Given the description of an element on the screen output the (x, y) to click on. 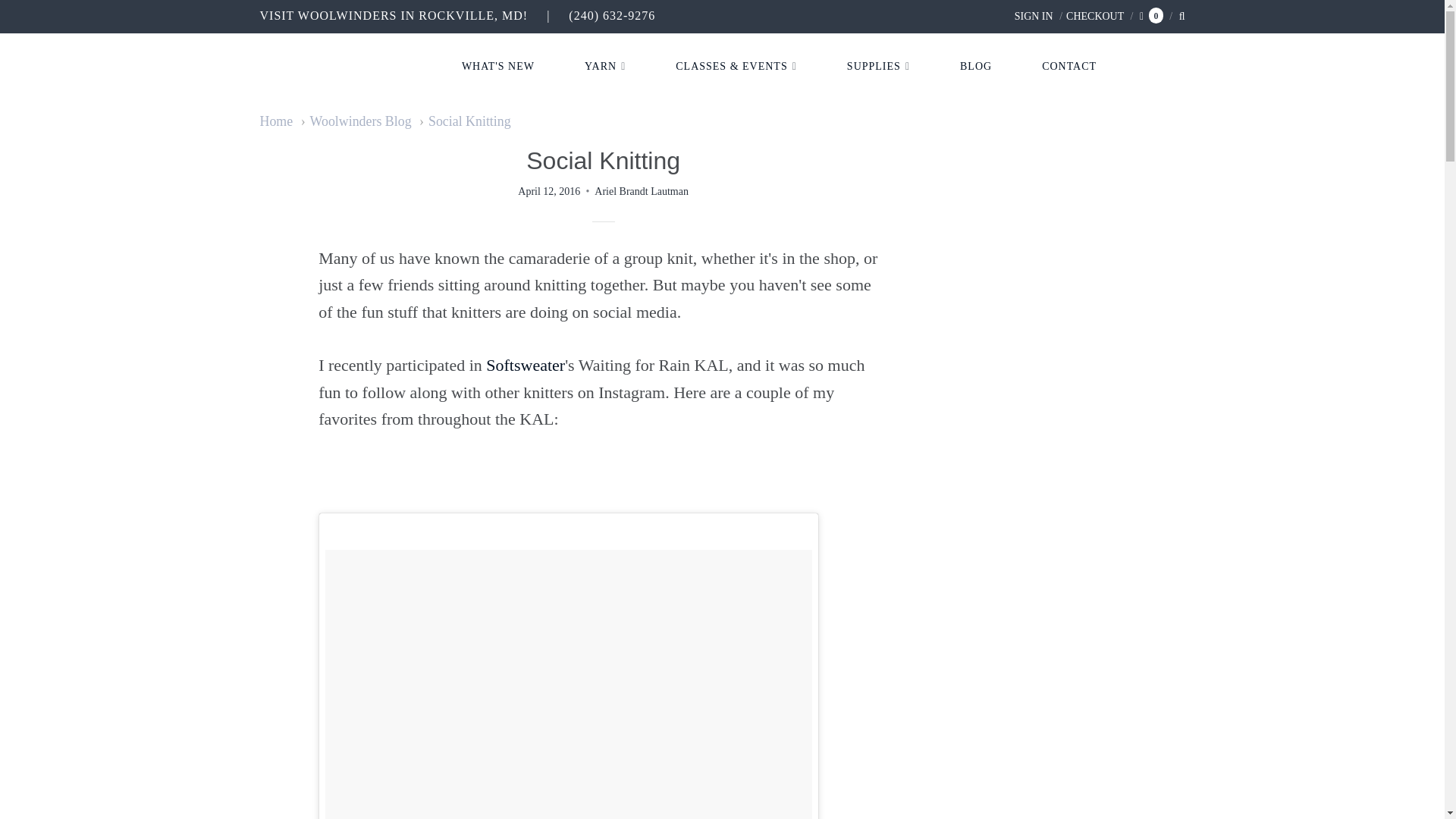
WHAT'S NEW (497, 66)
Social Knitting (465, 120)
CHECKOUT (1089, 16)
YARN (604, 66)
Woolwinders Blog (356, 120)
tel:240-632-9276 (612, 15)
SIGN IN (1033, 16)
Home (275, 120)
0 (1151, 16)
